Given the description of an element on the screen output the (x, y) to click on. 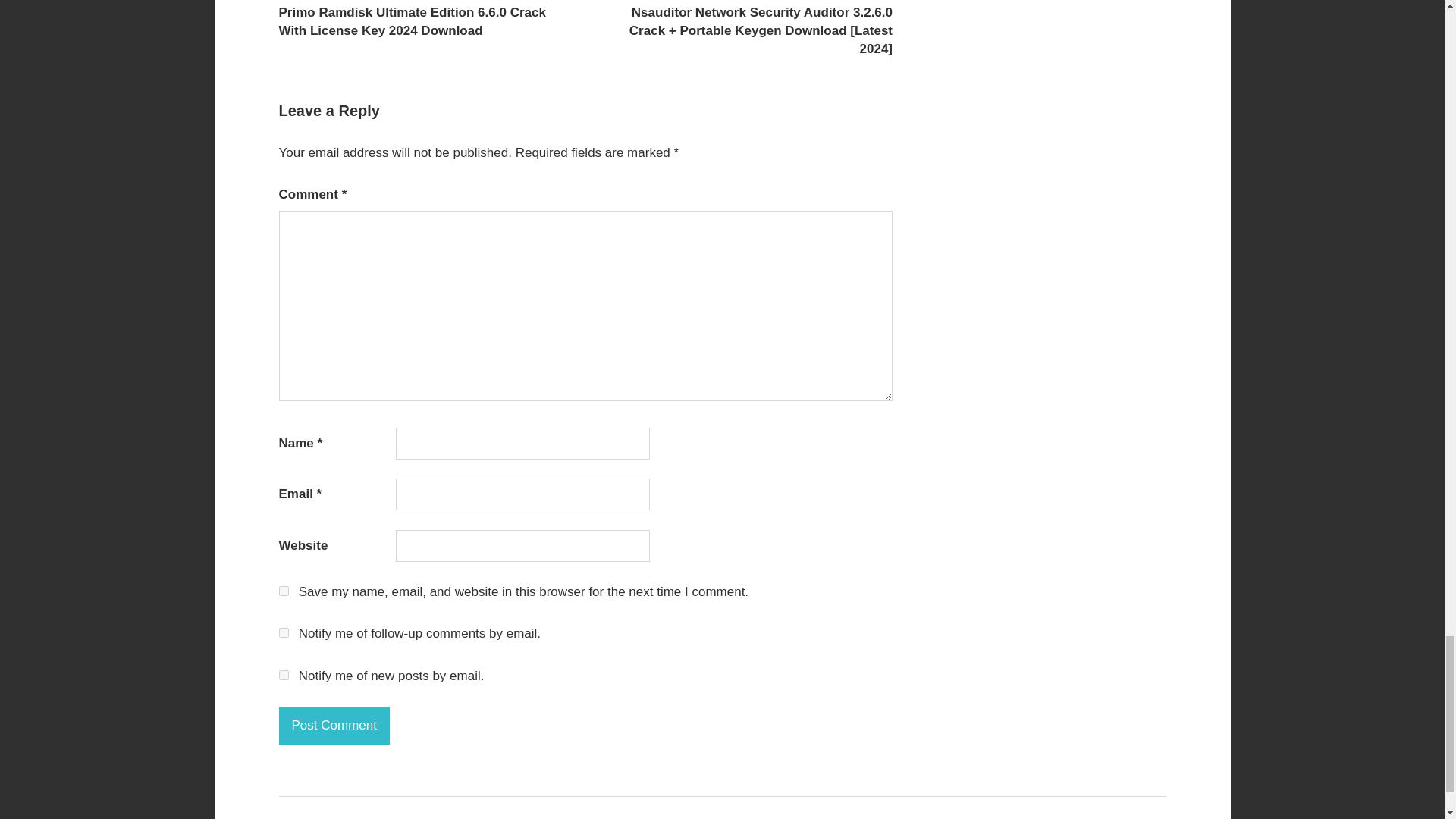
yes (283, 591)
Post Comment (334, 725)
subscribe (283, 675)
subscribe (283, 633)
